Given the description of an element on the screen output the (x, y) to click on. 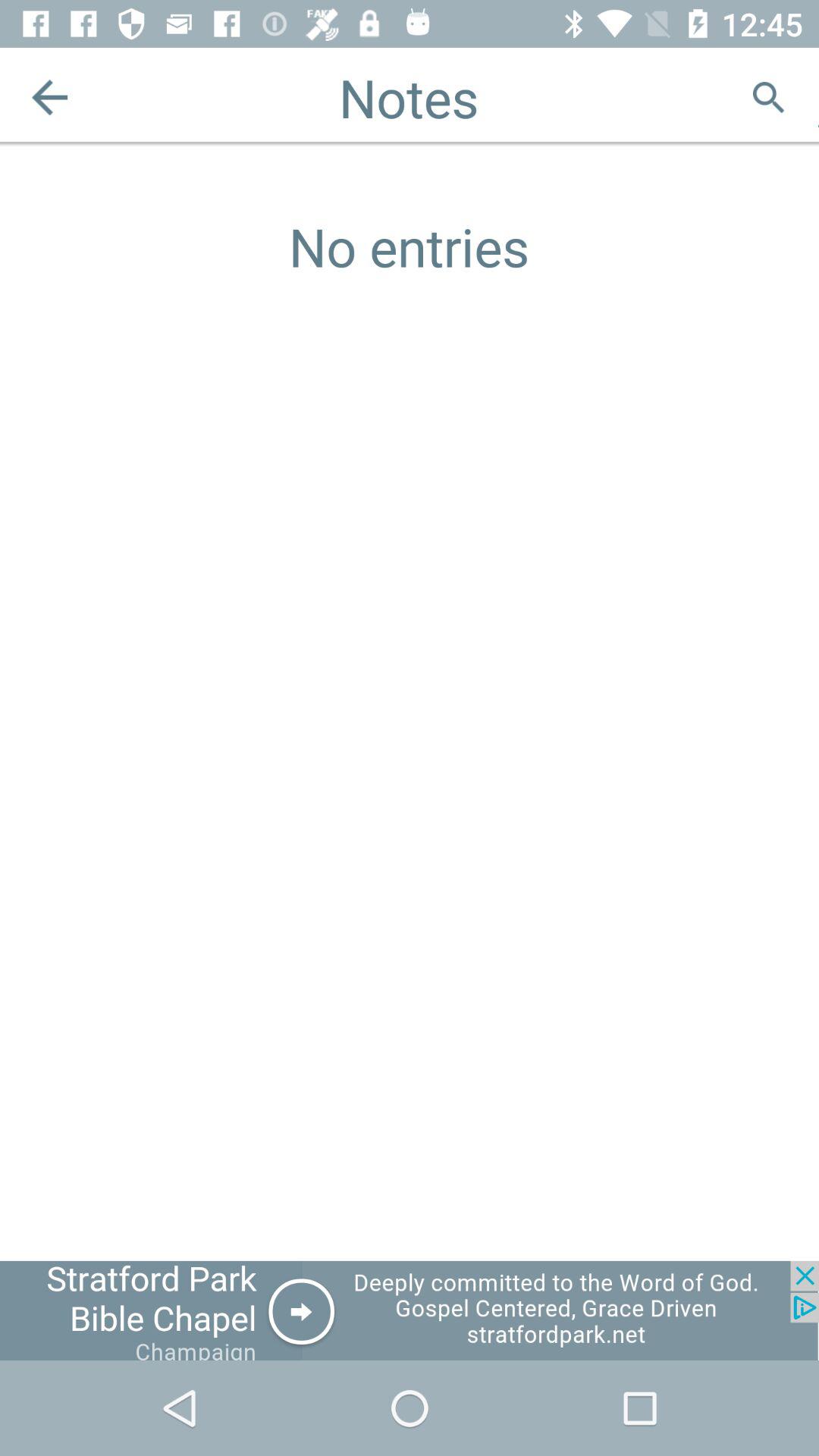
search in notes (768, 97)
